Given the description of an element on the screen output the (x, y) to click on. 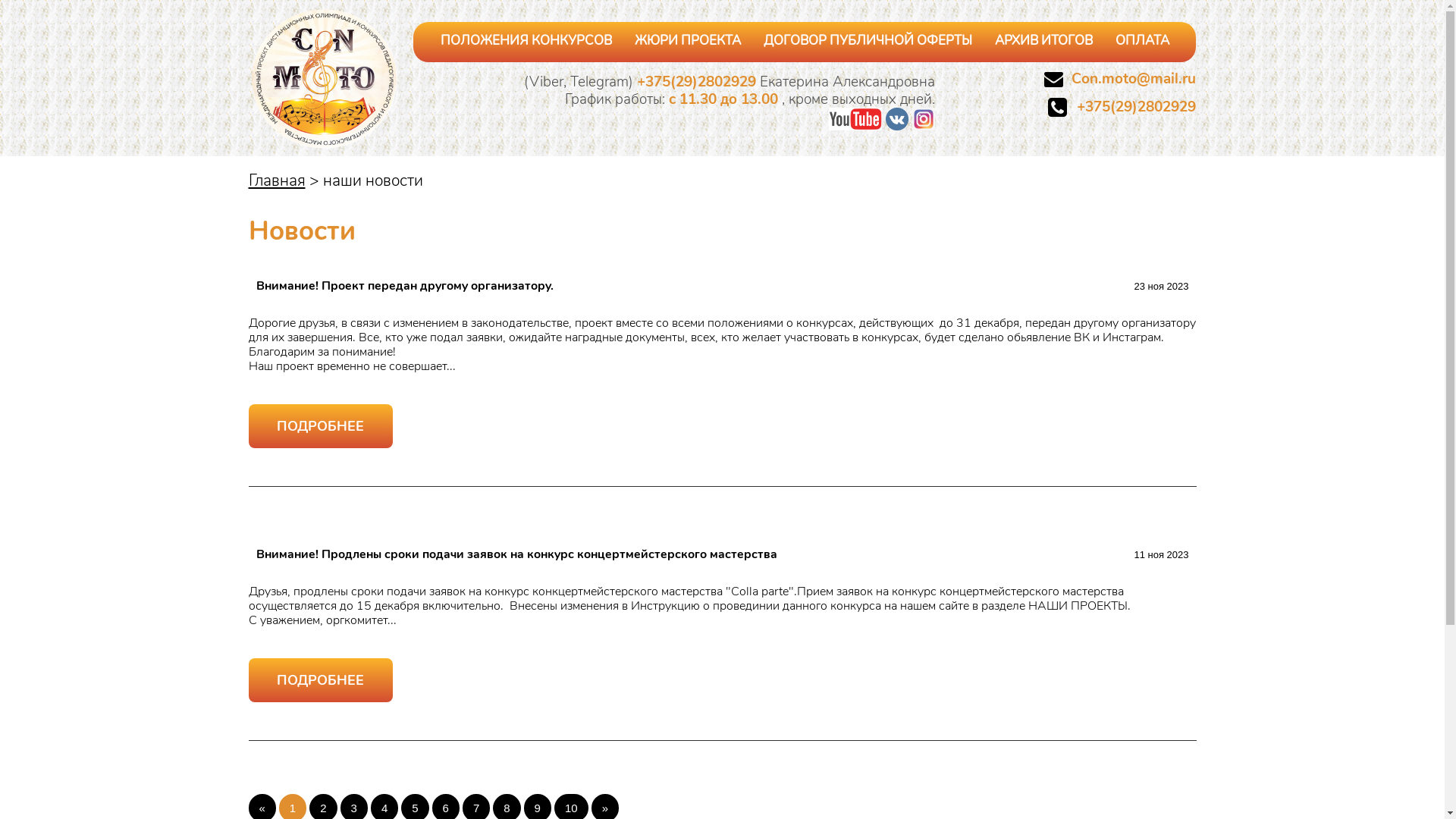
Con.moto@mail.ru Element type: text (1133, 78)
+375(29)2802929 Element type: text (1135, 106)
+375(29)2802929 Element type: text (698, 81)
